Given the description of an element on the screen output the (x, y) to click on. 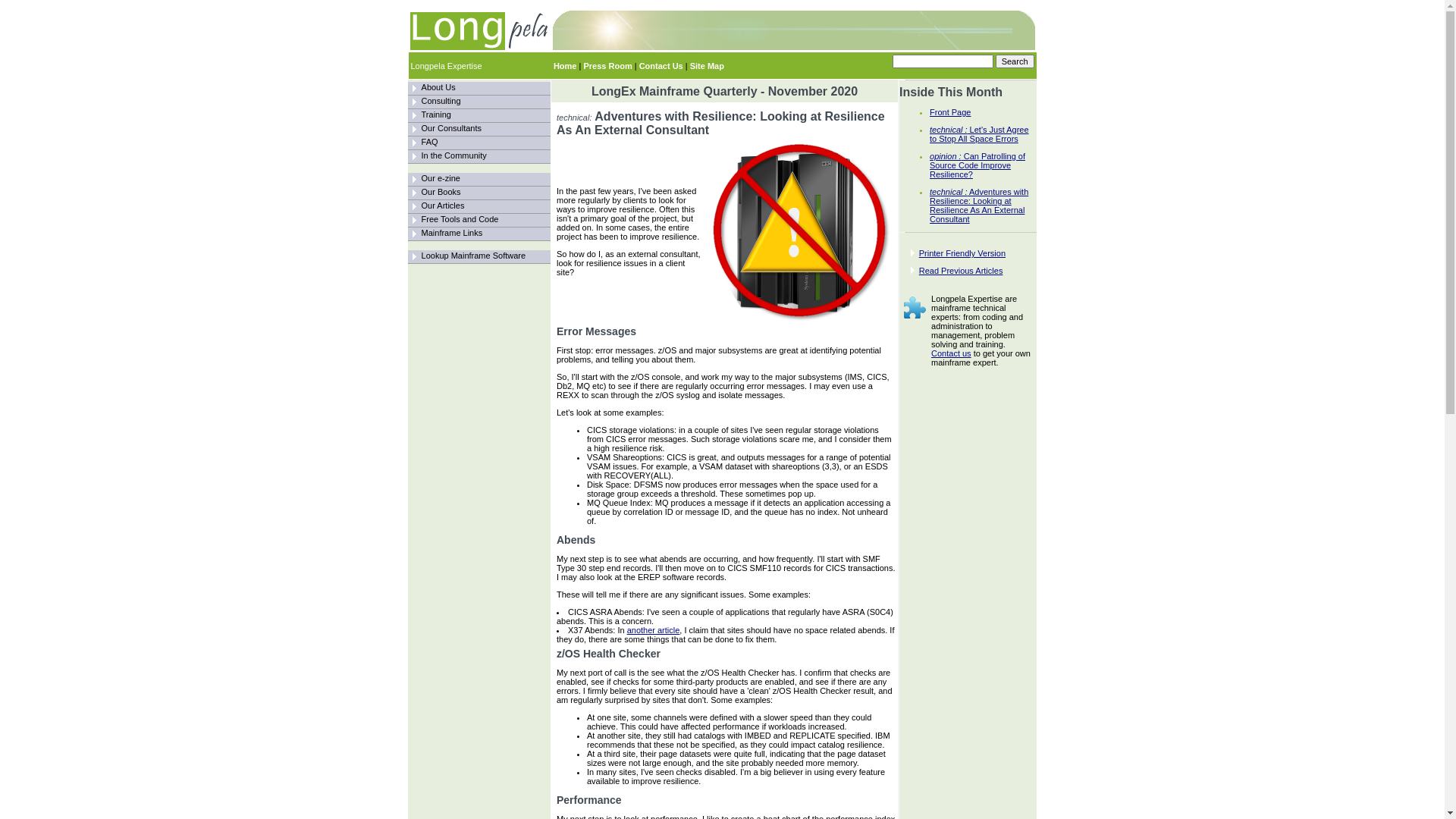
opinion : Can Patrolling of Source Code Improve Resilience? Element type: text (977, 164)
Contact Us Element type: text (661, 64)
About Us Element type: text (438, 86)
Free Tools and Code Element type: text (478, 220)
technical : Let's Just Agree to Stop All Space Errors Element type: text (979, 134)
another article Element type: text (653, 629)
Go to Longpela Expertise home Element type: hover (479, 31)
Our Articles Element type: text (478, 206)
Lookup Mainframe Software Element type: text (478, 256)
Training Element type: text (436, 114)
Our e-zine Element type: text (440, 177)
Home Element type: text (565, 64)
FAQ Element type: text (478, 143)
Consulting Element type: text (478, 102)
Free Tools and Code Element type: text (459, 218)
Search Element type: text (1014, 61)
Our Articles Element type: text (442, 205)
Lookup Mainframe Software Element type: text (473, 255)
Our Books Element type: text (441, 191)
Training Element type: text (478, 115)
Site Map Element type: text (707, 64)
In the Community Element type: text (453, 155)
Our Books Element type: text (478, 193)
Our e-zine Element type: text (478, 179)
Our Consultants Element type: text (478, 129)
About Us Element type: text (478, 88)
Contact us Element type: text (951, 352)
In the Community Element type: text (478, 156)
Press Room Element type: text (607, 64)
Printer Friendly Version Element type: text (962, 252)
Mainframe Links Element type: text (452, 232)
FAQ Element type: text (429, 141)
Mainframe Links Element type: text (478, 234)
Consulting Element type: text (441, 100)
Front Page Element type: text (949, 111)
Our Consultants Element type: text (451, 127)
Read Previous Articles Element type: text (961, 270)
